Given the description of an element on the screen output the (x, y) to click on. 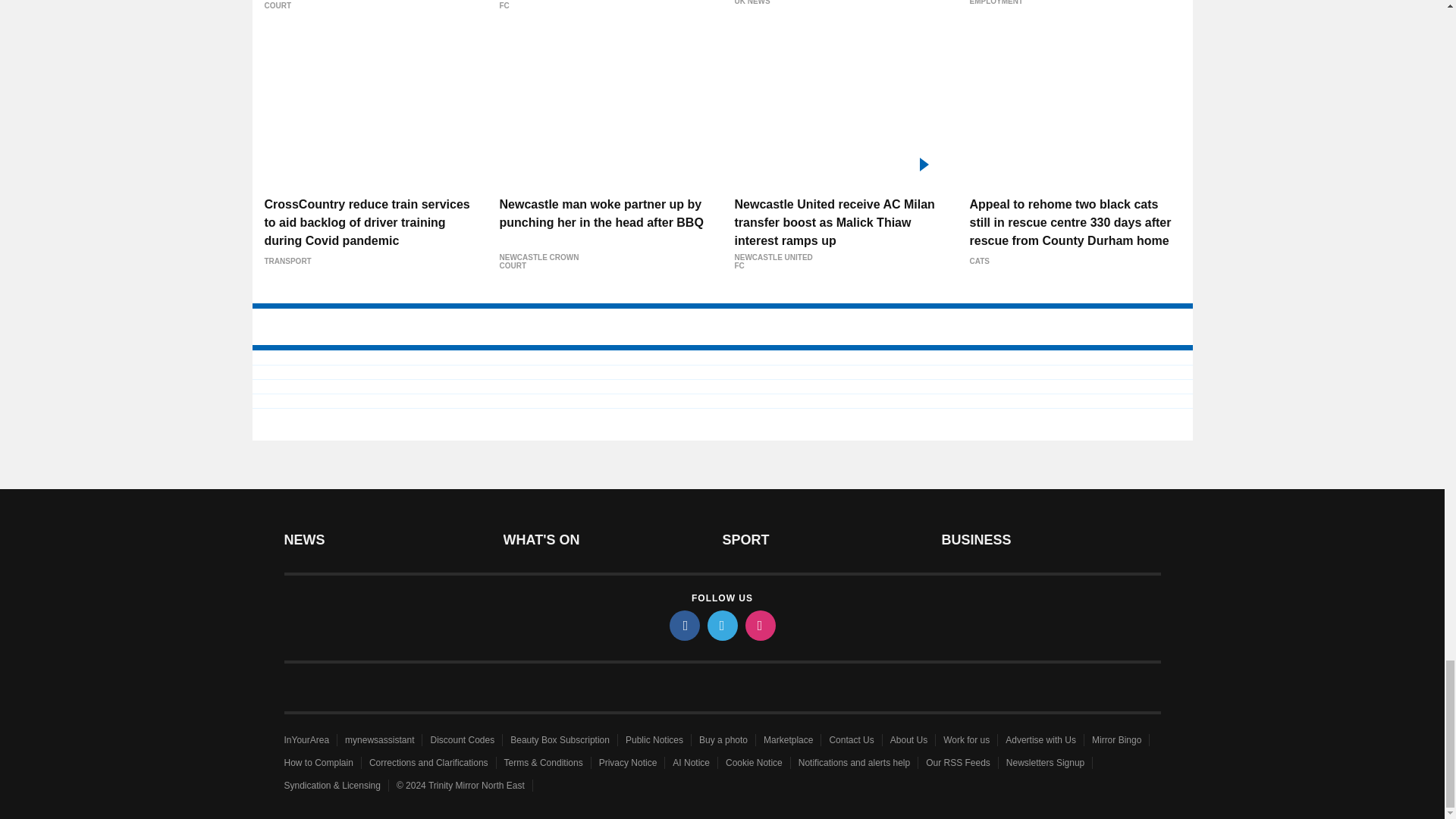
twitter (721, 625)
facebook (683, 625)
instagram (759, 625)
